Given the description of an element on the screen output the (x, y) to click on. 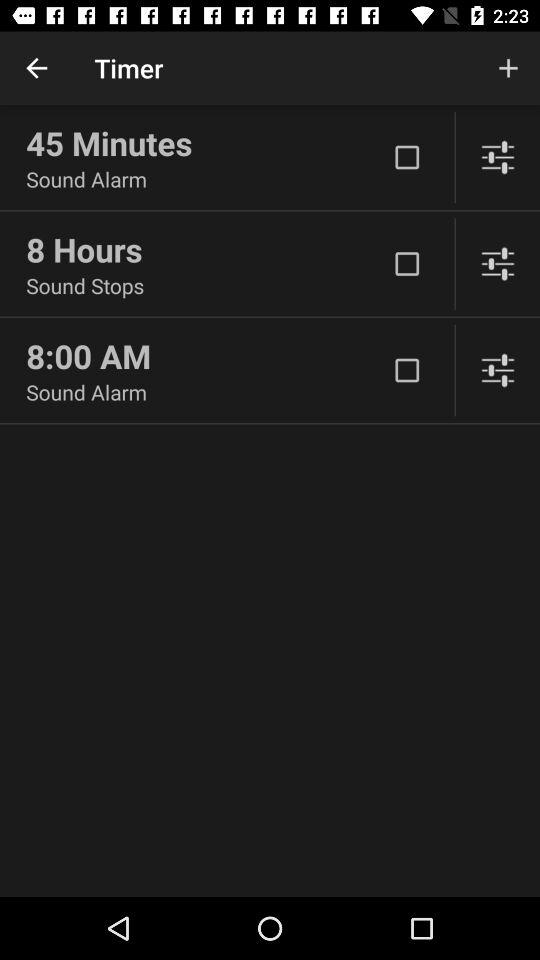
launch icon to the left of the timer item (36, 68)
